Given the description of an element on the screen output the (x, y) to click on. 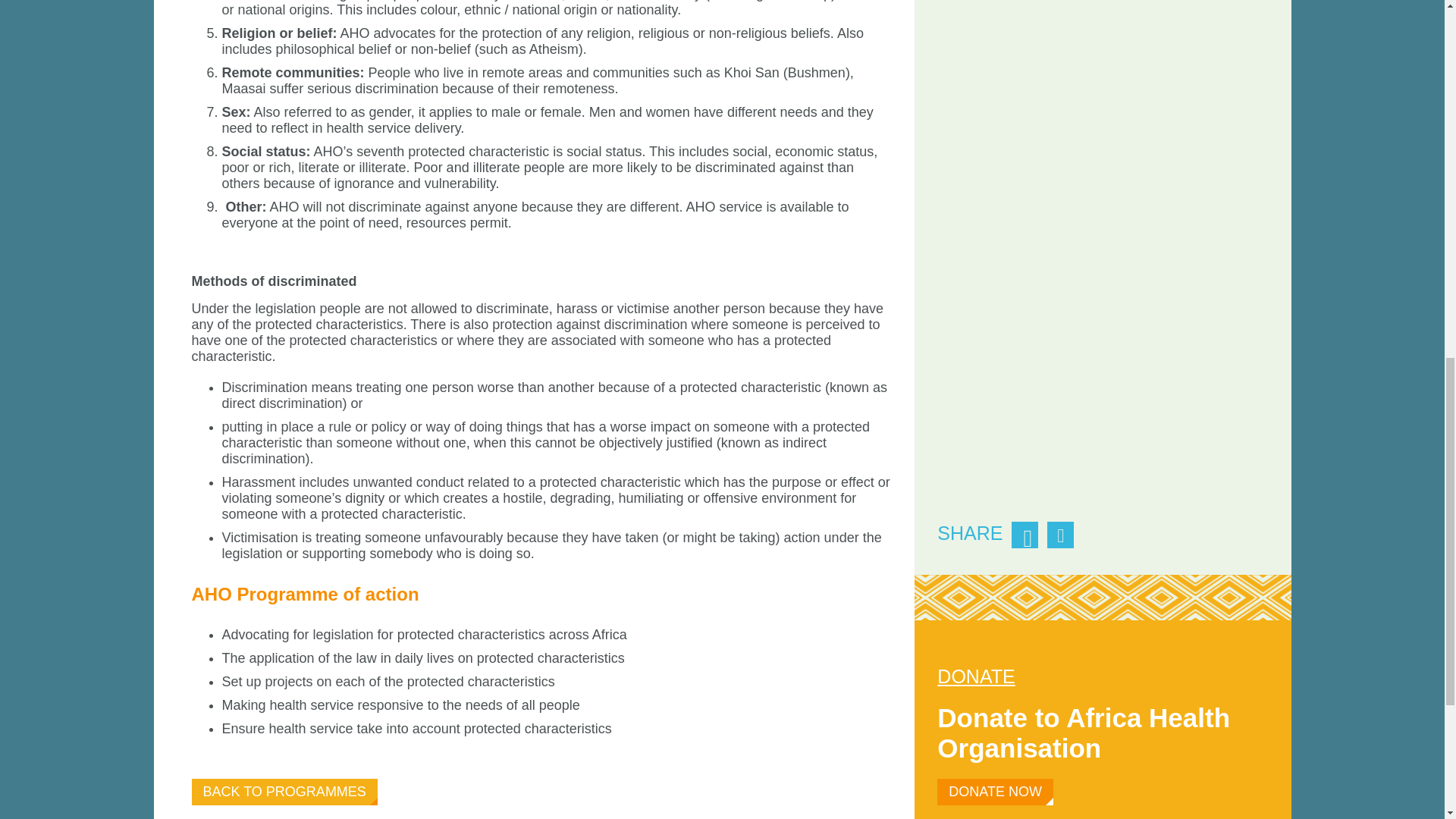
DONATE NOW (994, 791)
BACK TO PROGRAMMES (283, 791)
